Given the description of an element on the screen output the (x, y) to click on. 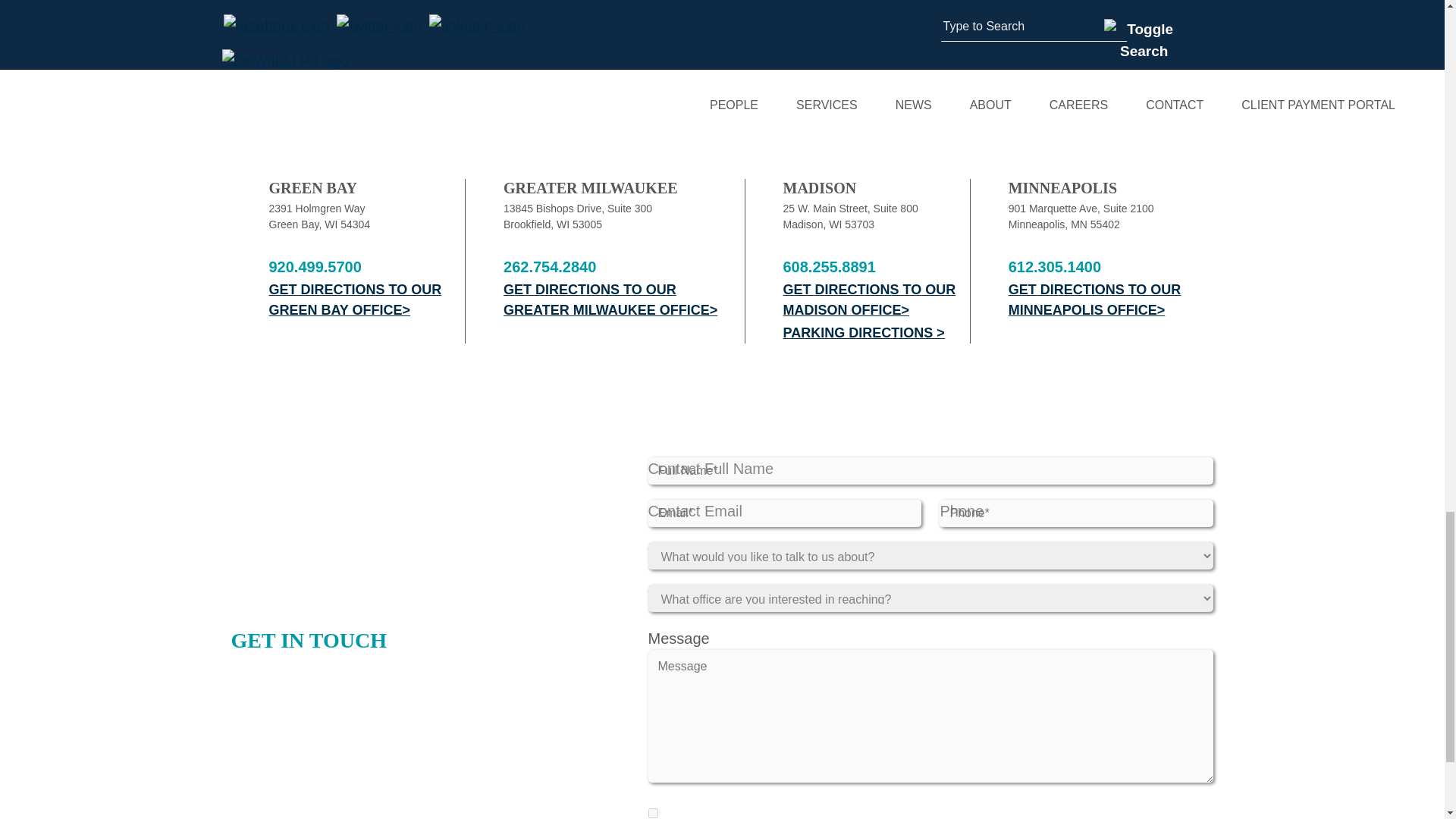
See Full Terms (1168, 812)
612.305.1400 (1111, 266)
920.499.5700 (365, 266)
262.754.2840 (623, 266)
608.255.8891 (876, 266)
I agree to the terms (652, 813)
